Given the description of an element on the screen output the (x, y) to click on. 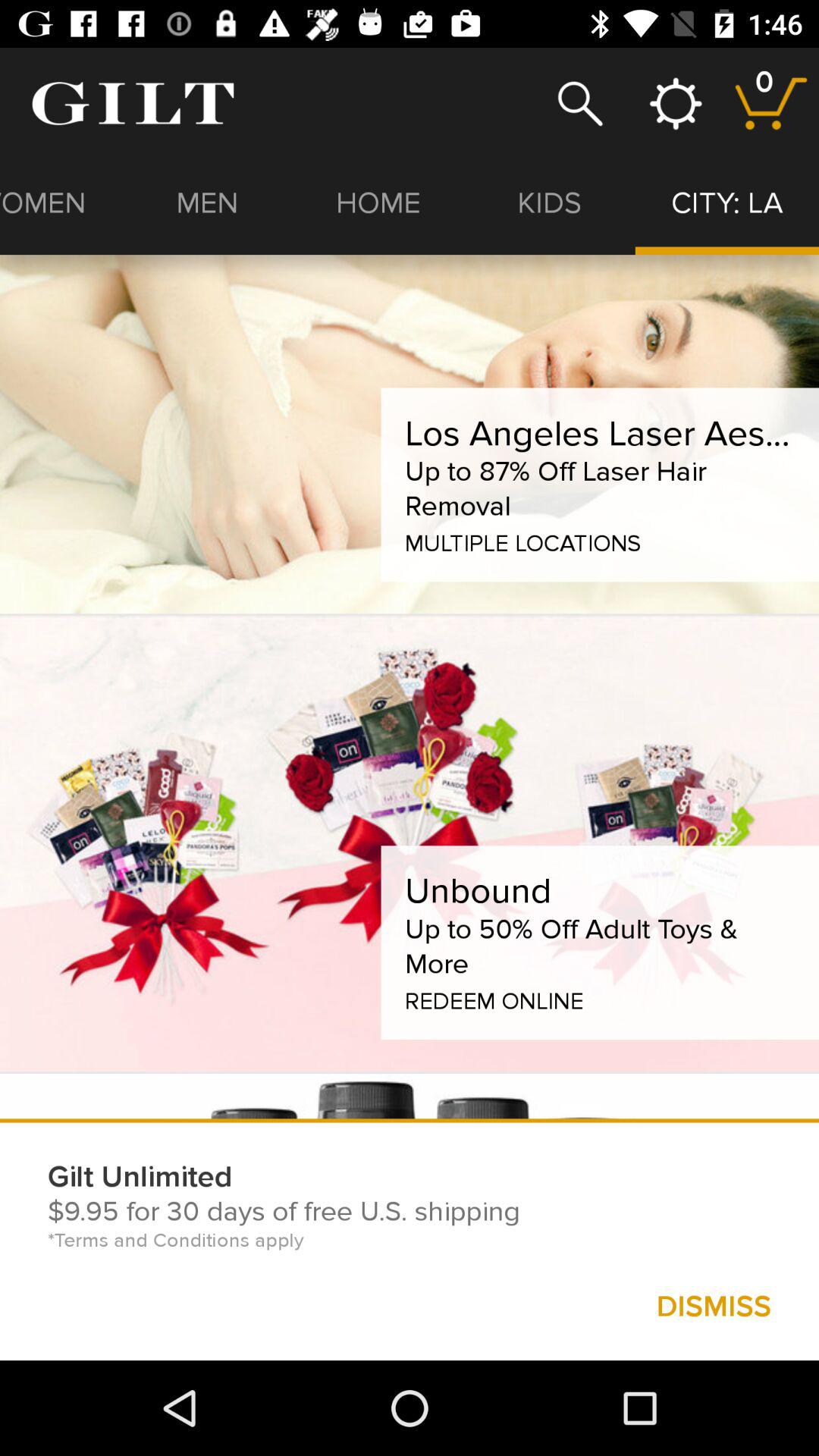
jump to unbound icon (477, 890)
